Given the description of an element on the screen output the (x, y) to click on. 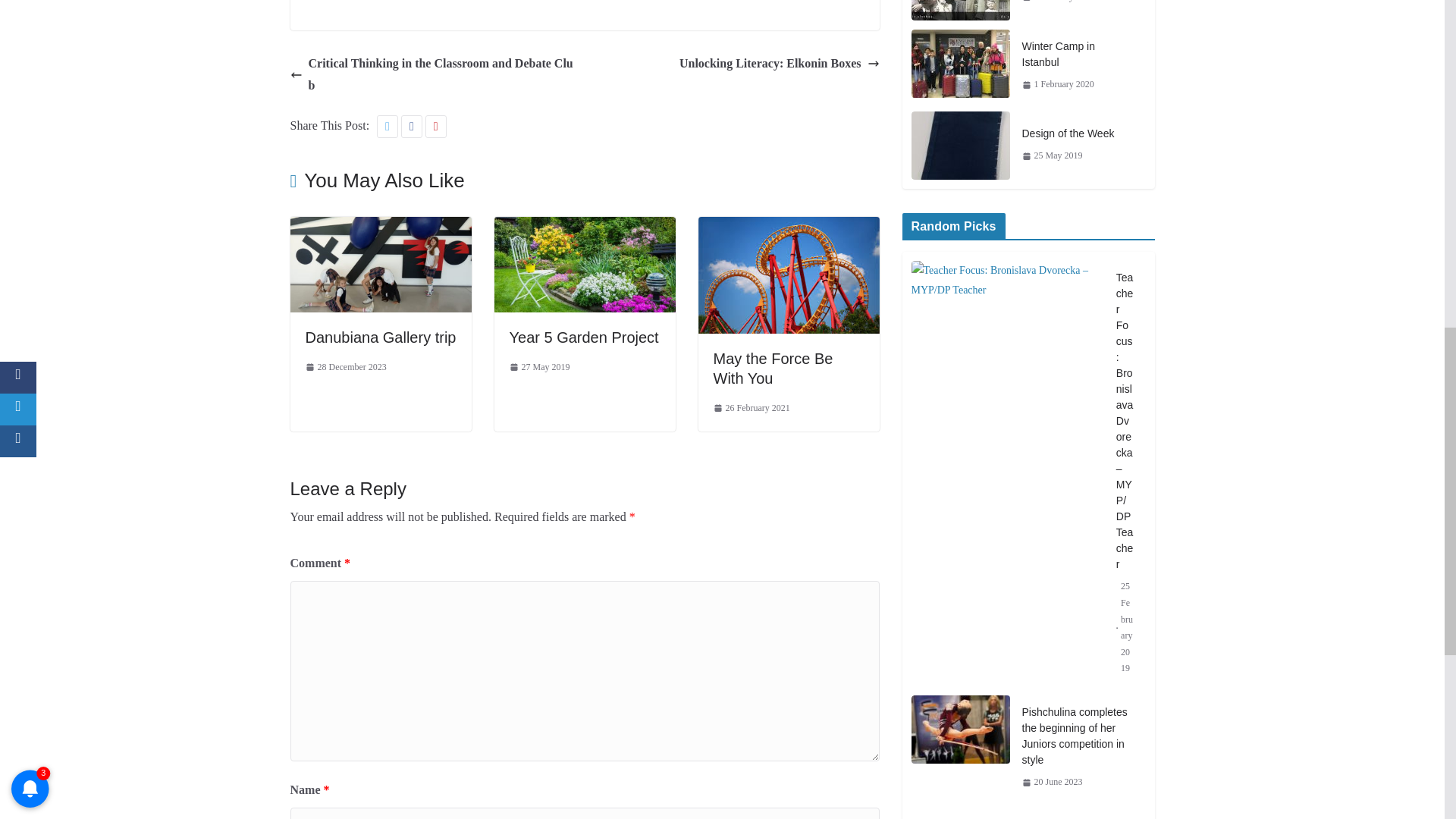
Unlocking Literacy: Elkonin Boxes (779, 64)
06:50 (539, 367)
28 December 2023 (344, 367)
Danubiana Gallery trip (379, 337)
Danubiana Gallery trip (379, 337)
17:28 (344, 367)
Year 5 Garden Project (584, 337)
Year 5 Garden Project (584, 337)
Danubiana Gallery trip (379, 226)
27 May 2019 (539, 367)
Year 5 Garden Project (585, 226)
Critical Thinking in the Classroom and Debate Club (432, 75)
